Given the description of an element on the screen output the (x, y) to click on. 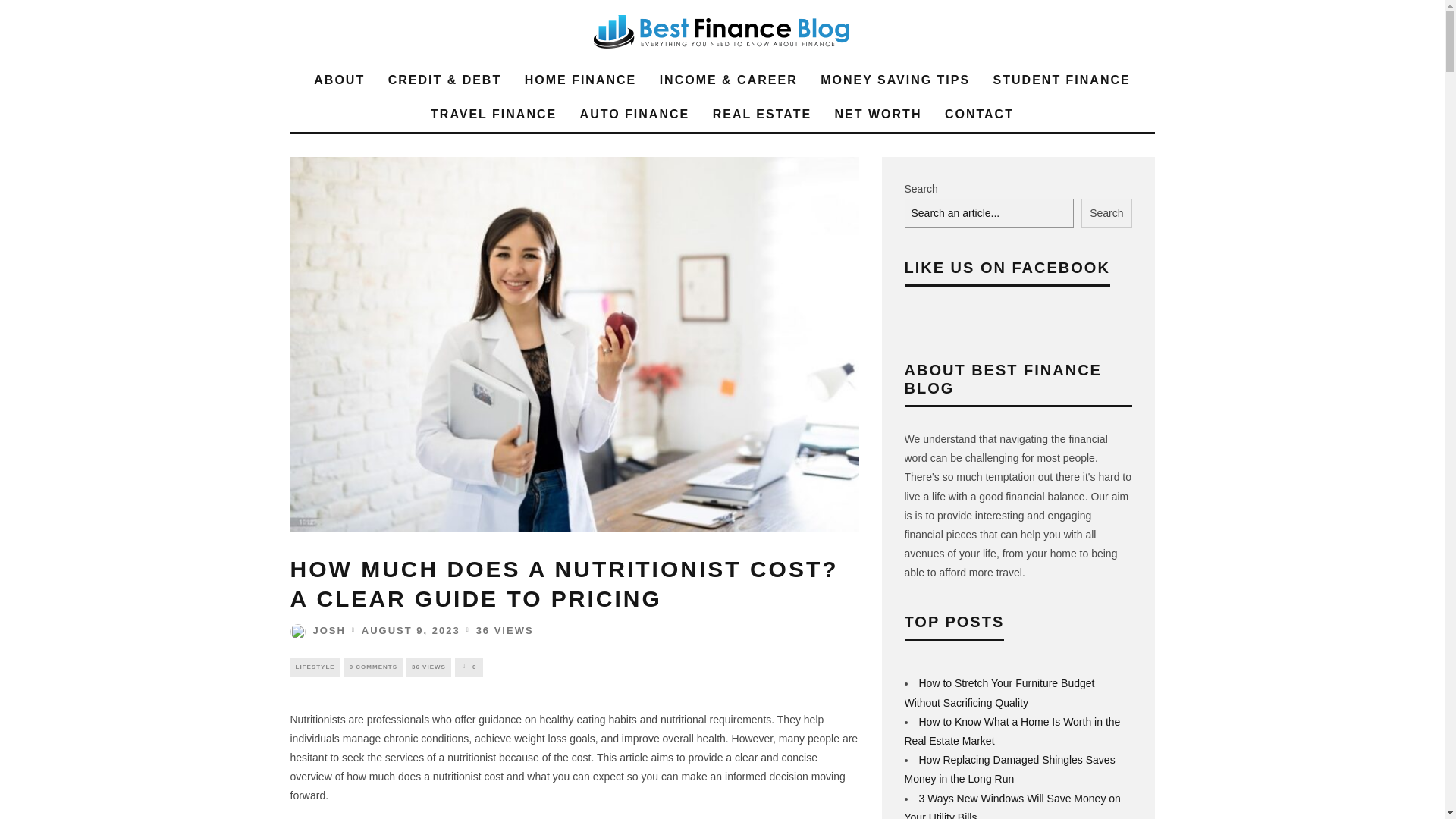
NET WORTH (878, 114)
LIFESTYLE (314, 667)
HOME FINANCE (580, 80)
ABOUT (339, 80)
STUDENT FINANCE (1062, 80)
View all posts in Lifestyle (314, 667)
REAL ESTATE (762, 114)
JOSH (317, 630)
0 COMMENTS (373, 667)
TRAVEL FINANCE (494, 114)
